Given the description of an element on the screen output the (x, y) to click on. 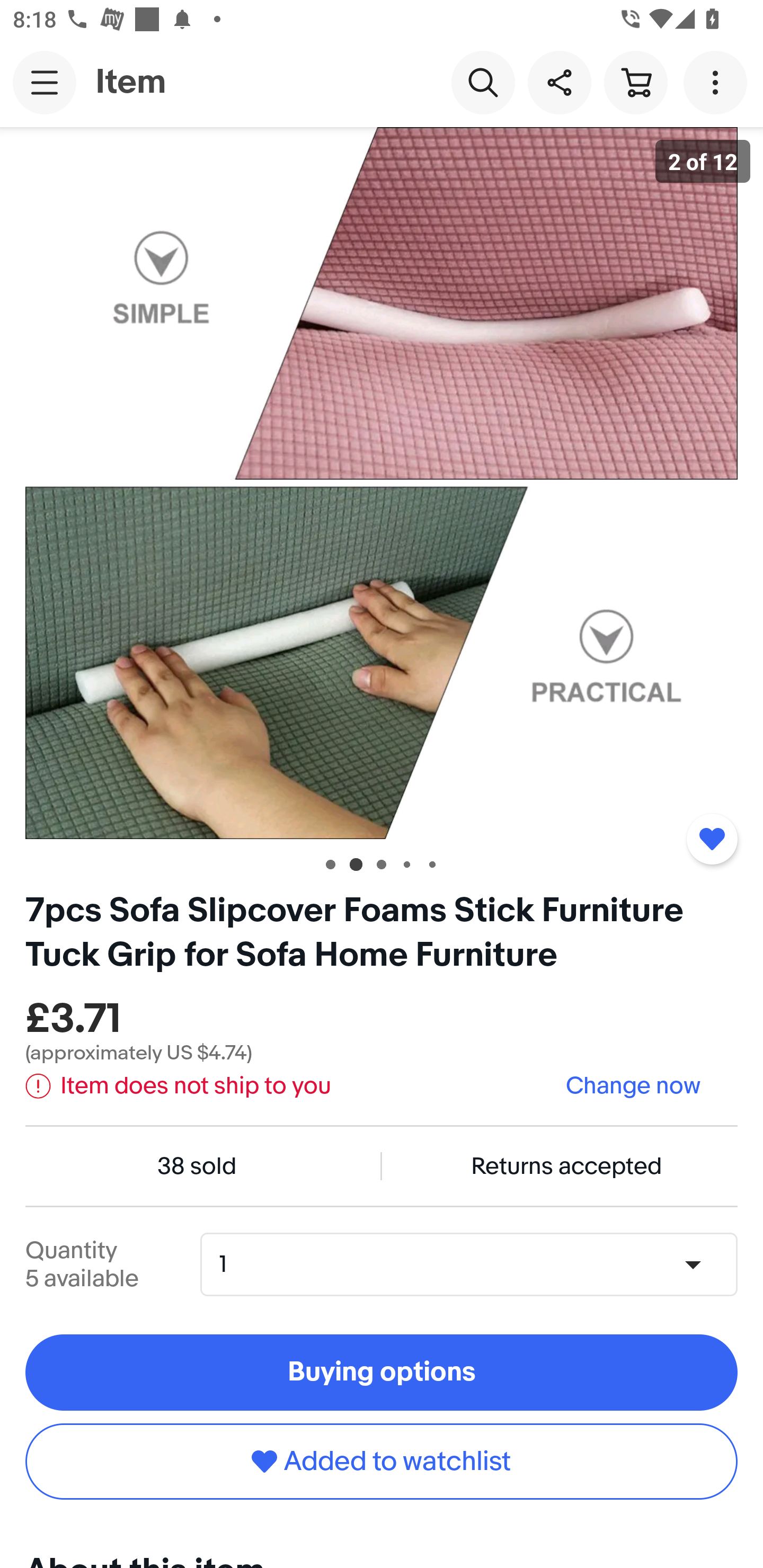
Main navigation, open (44, 82)
Search (482, 81)
Share this item (559, 81)
Cart button shopping cart (635, 81)
More options (718, 81)
Item image 2 of 12 (381, 482)
Added to watchlist (711, 838)
Quantity,1,5 available 1 (474, 1264)
Buying options (381, 1372)
Added to watchlist (381, 1461)
